Given the description of an element on the screen output the (x, y) to click on. 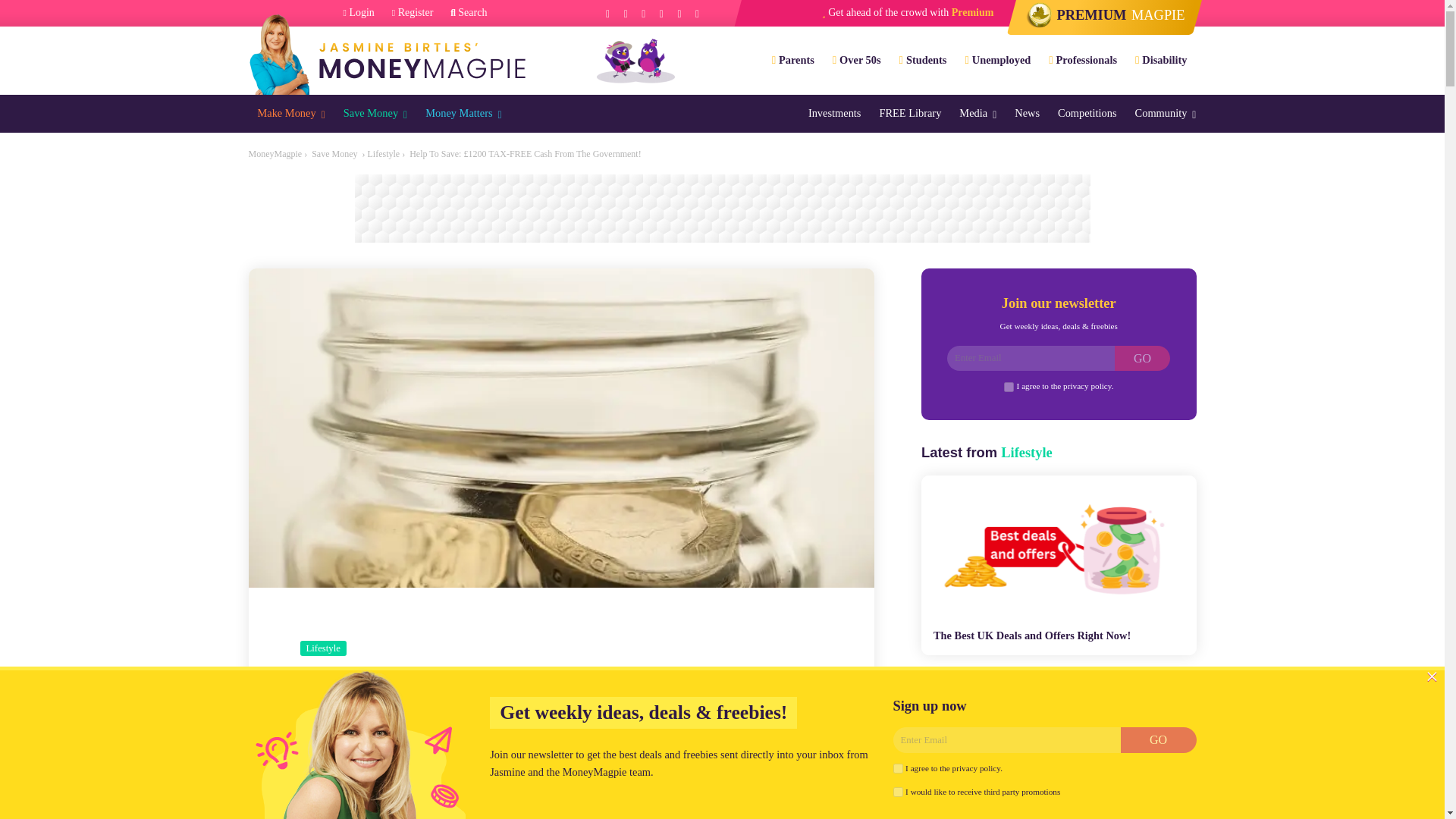
Register (412, 12)
Login (358, 12)
Go to MoneyMagpie. (275, 153)
Go to the Lifestyle category archives. (382, 153)
1 (897, 768)
1 (897, 791)
1 (1008, 387)
Search (467, 12)
